Given the description of an element on the screen output the (x, y) to click on. 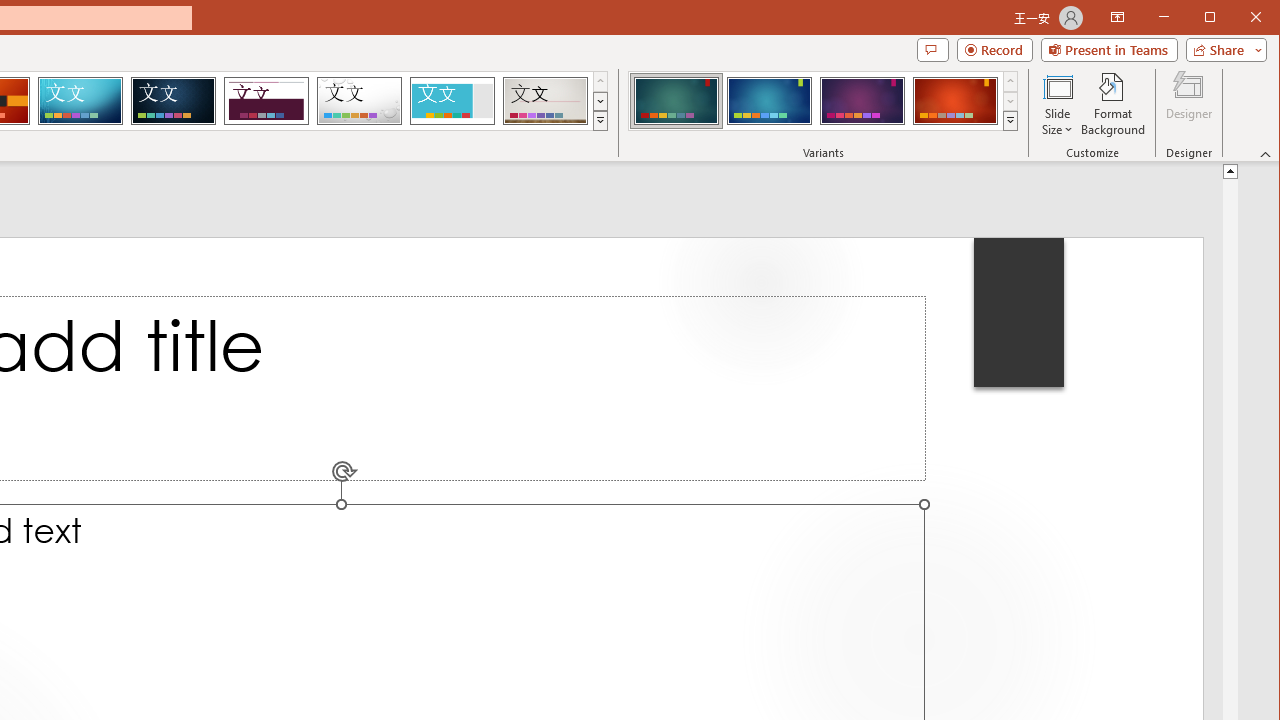
Ion Variant 2 (769, 100)
Variants (1010, 120)
Format Background (1113, 104)
Themes (600, 120)
Damask (173, 100)
Circuit (80, 100)
Ion Variant 3 (862, 100)
Frame (452, 100)
Slide Size (1057, 104)
